Given the description of an element on the screen output the (x, y) to click on. 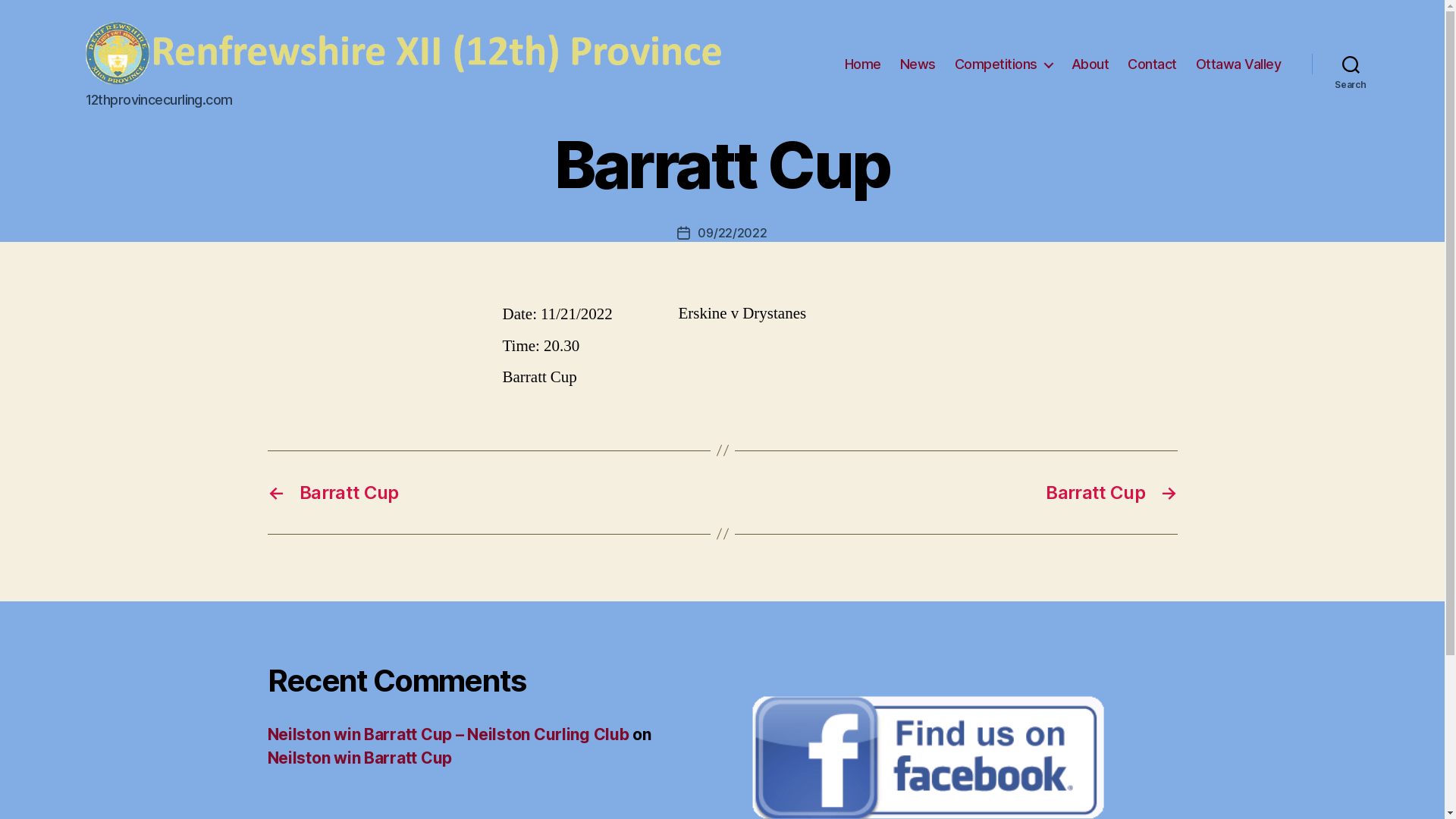
About Element type: text (1090, 64)
Search Element type: text (1350, 64)
09/22/2022 Element type: text (731, 232)
News Element type: text (917, 64)
Home Element type: text (862, 64)
Contact Element type: text (1151, 64)
Ottawa Valley Element type: text (1238, 64)
Neilston win Barratt Cup Element type: text (358, 757)
Competitions Element type: text (1003, 64)
